Given the description of an element on the screen output the (x, y) to click on. 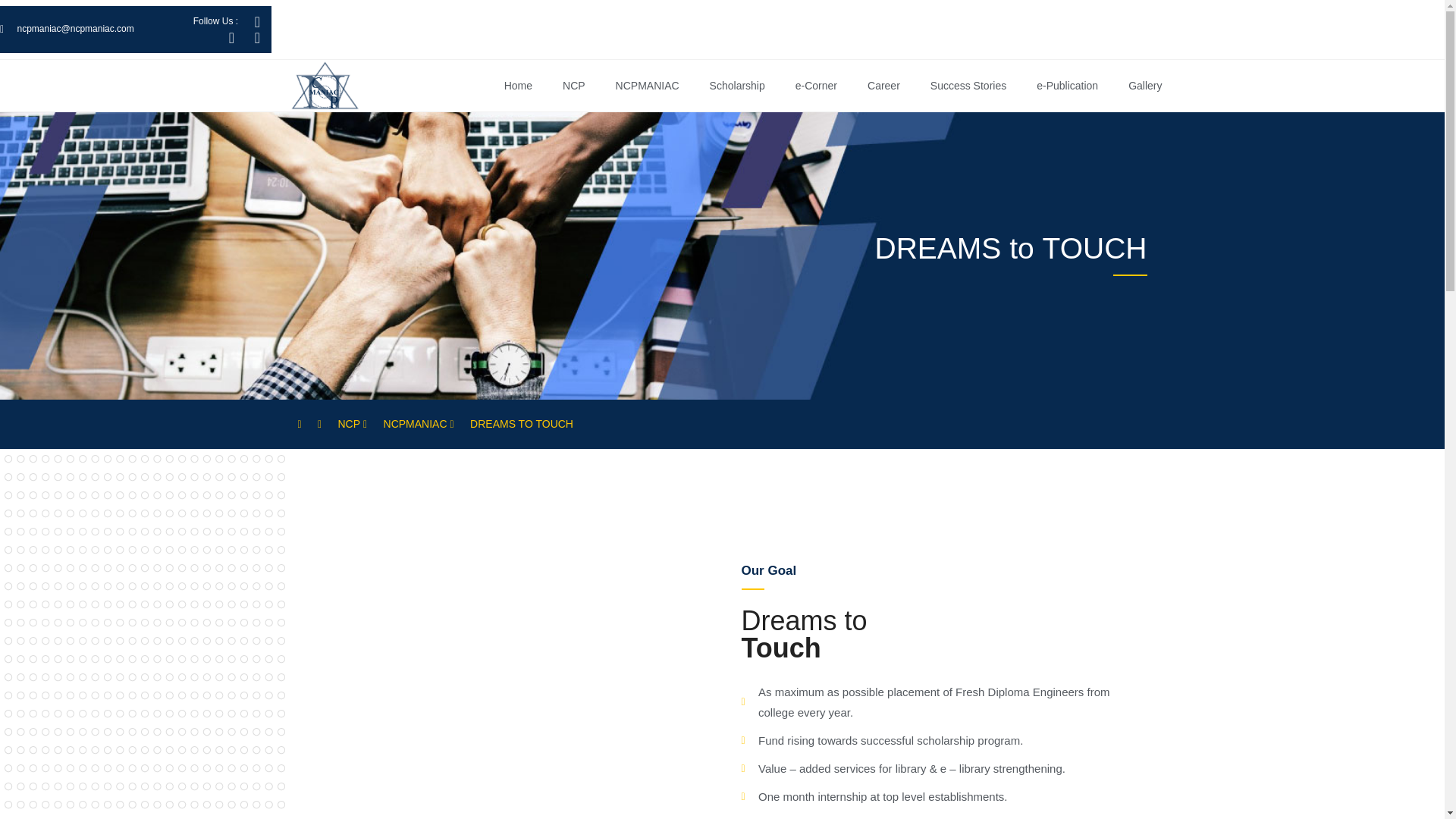
e-Publication (1067, 85)
e-Corner (815, 85)
Home (518, 85)
Scholarship (737, 85)
Career (883, 85)
Success Stories (968, 85)
NCPMANIAC (646, 85)
Gallery (1144, 85)
NCP (573, 85)
